Given the description of an element on the screen output the (x, y) to click on. 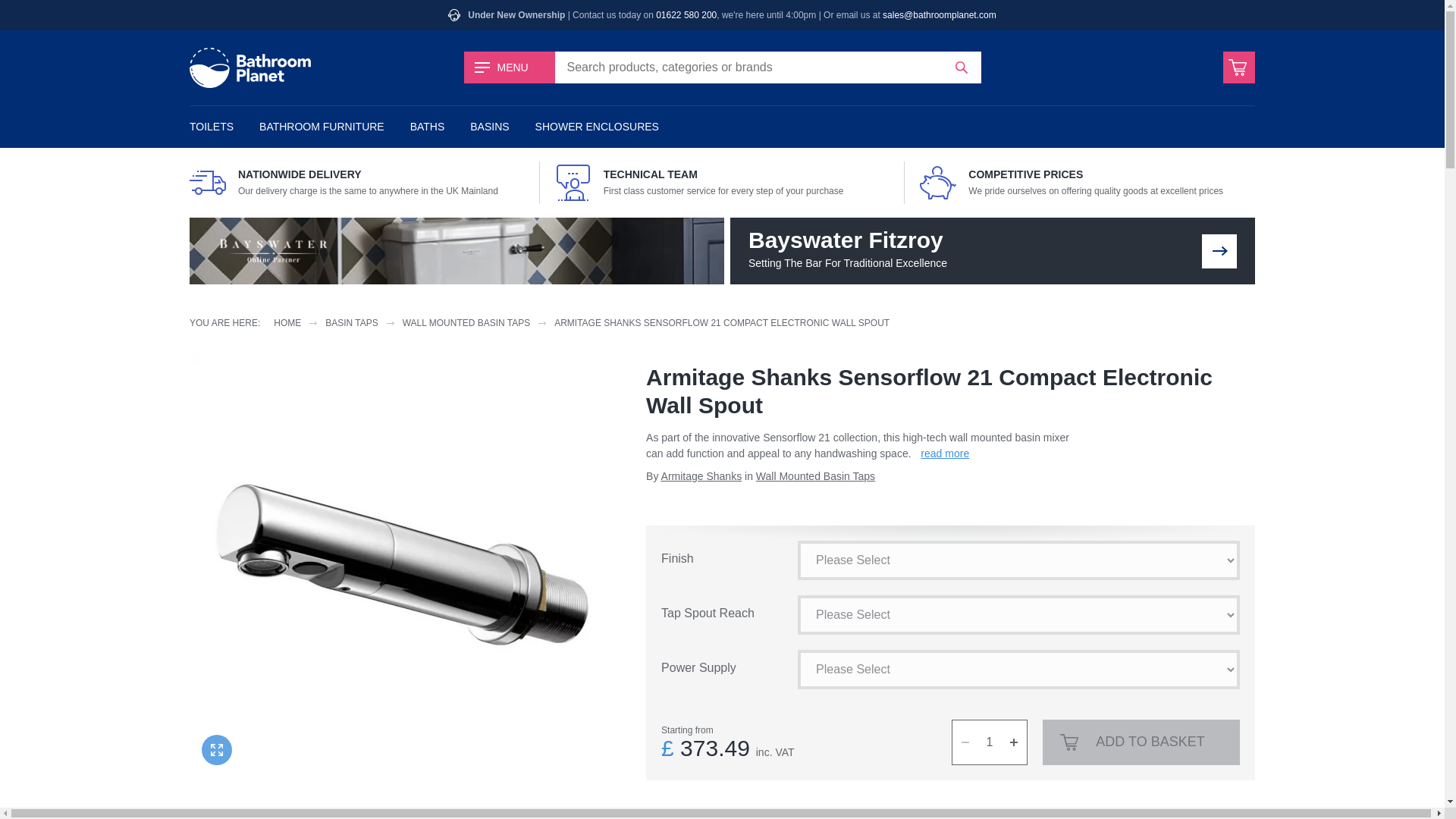
1 (989, 741)
BATHROOM FURNITURE (321, 126)
01622 580 200 (686, 14)
TOILETS (211, 126)
BATHS (427, 126)
MENU (509, 67)
